Given the description of an element on the screen output the (x, y) to click on. 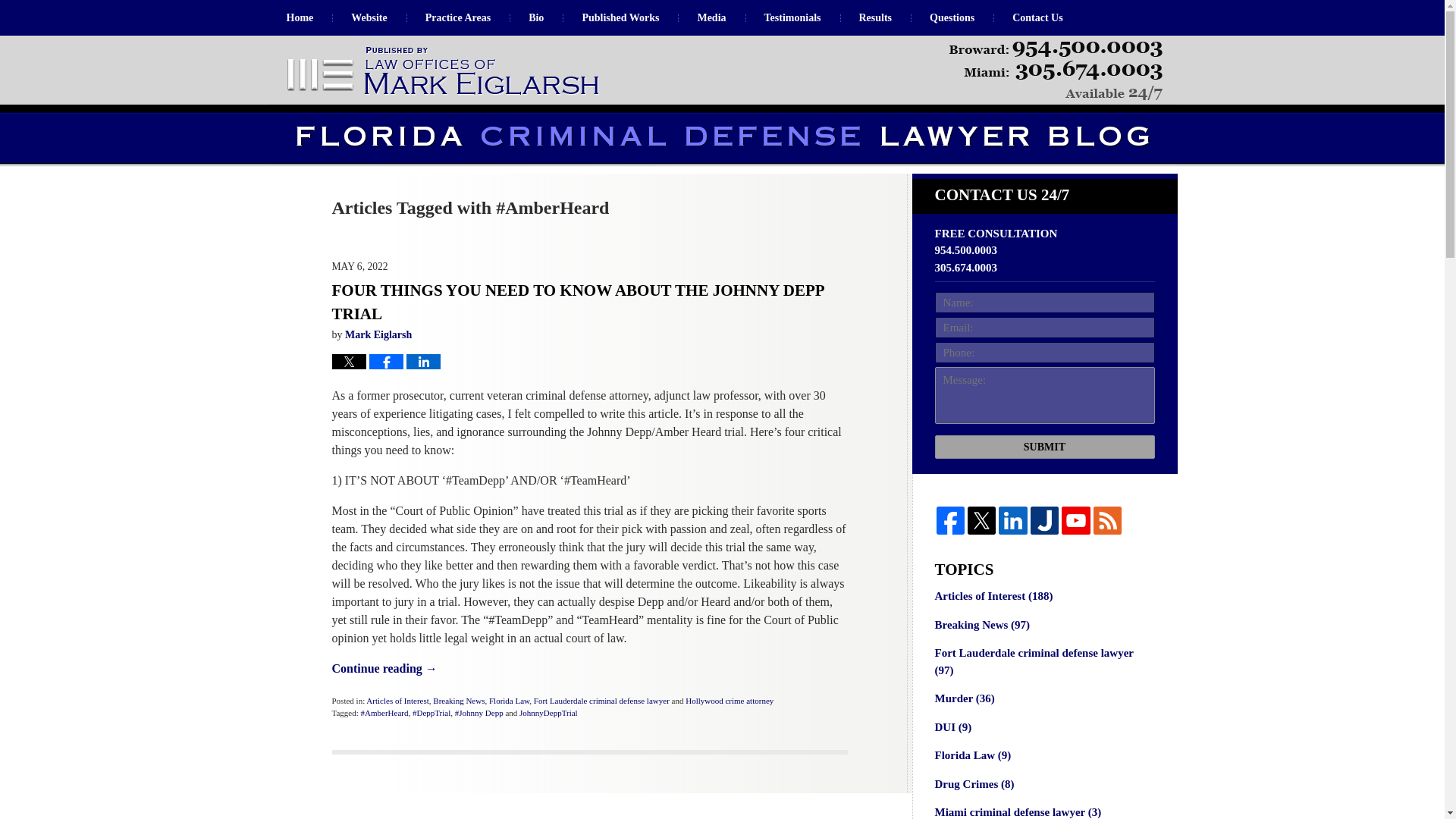
Fort Lauderdale criminal defense lawyer (601, 700)
Florida Law (509, 700)
LinkedIn (1012, 520)
Media (711, 18)
View all posts in Hollywood crime attorney (729, 700)
View all posts in Articles of Interest (397, 700)
Website (368, 18)
Facebook (949, 520)
Published Works (620, 18)
Twitter (981, 520)
Published By Law Offices of Mark Eiglarsh (1055, 70)
View all posts in Breaking News (458, 700)
View all posts in Florida Law (509, 700)
Questions (951, 18)
Articles of Interest (397, 700)
